Given the description of an element on the screen output the (x, y) to click on. 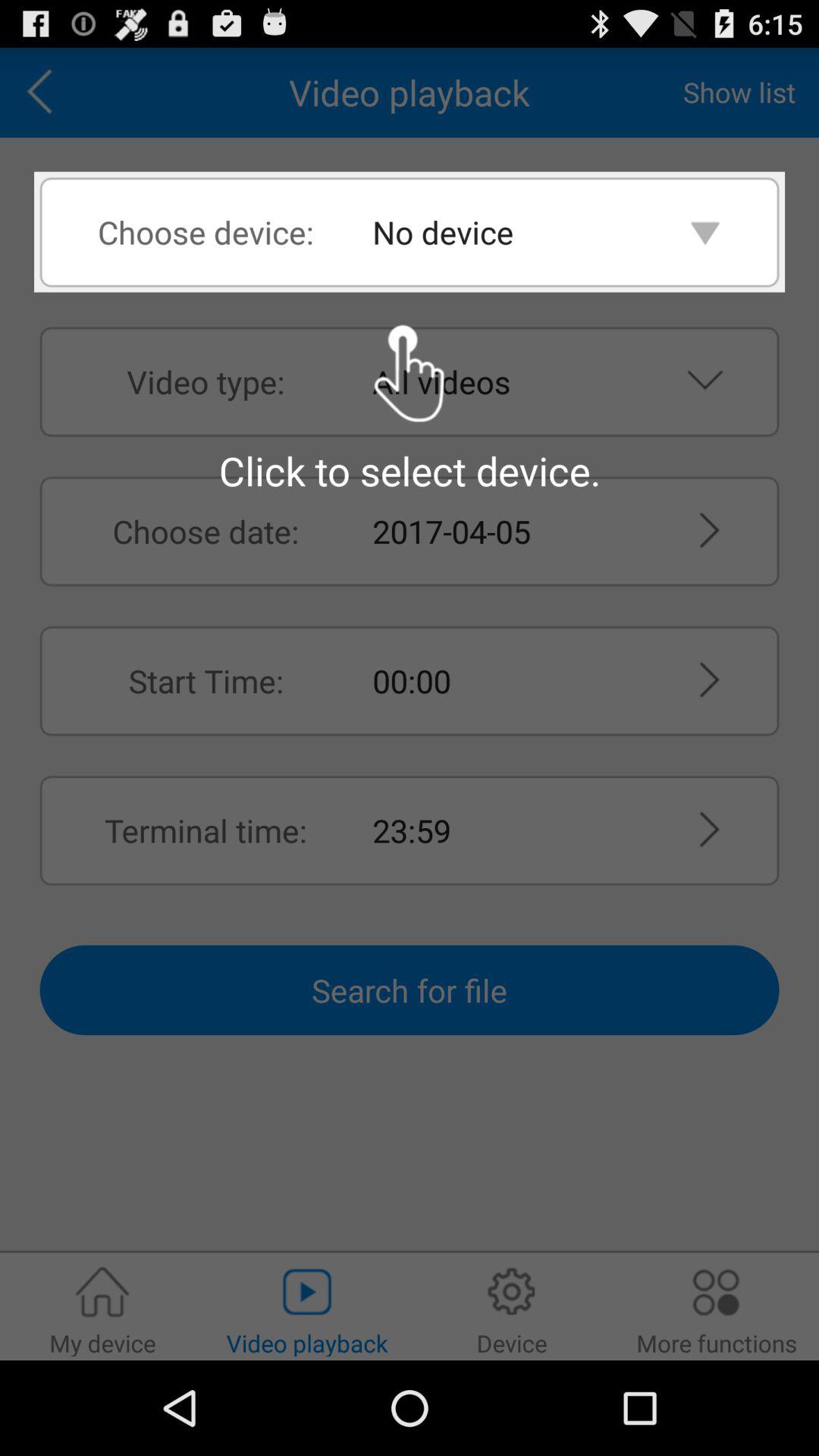
go back to previous screen (44, 92)
